Given the description of an element on the screen output the (x, y) to click on. 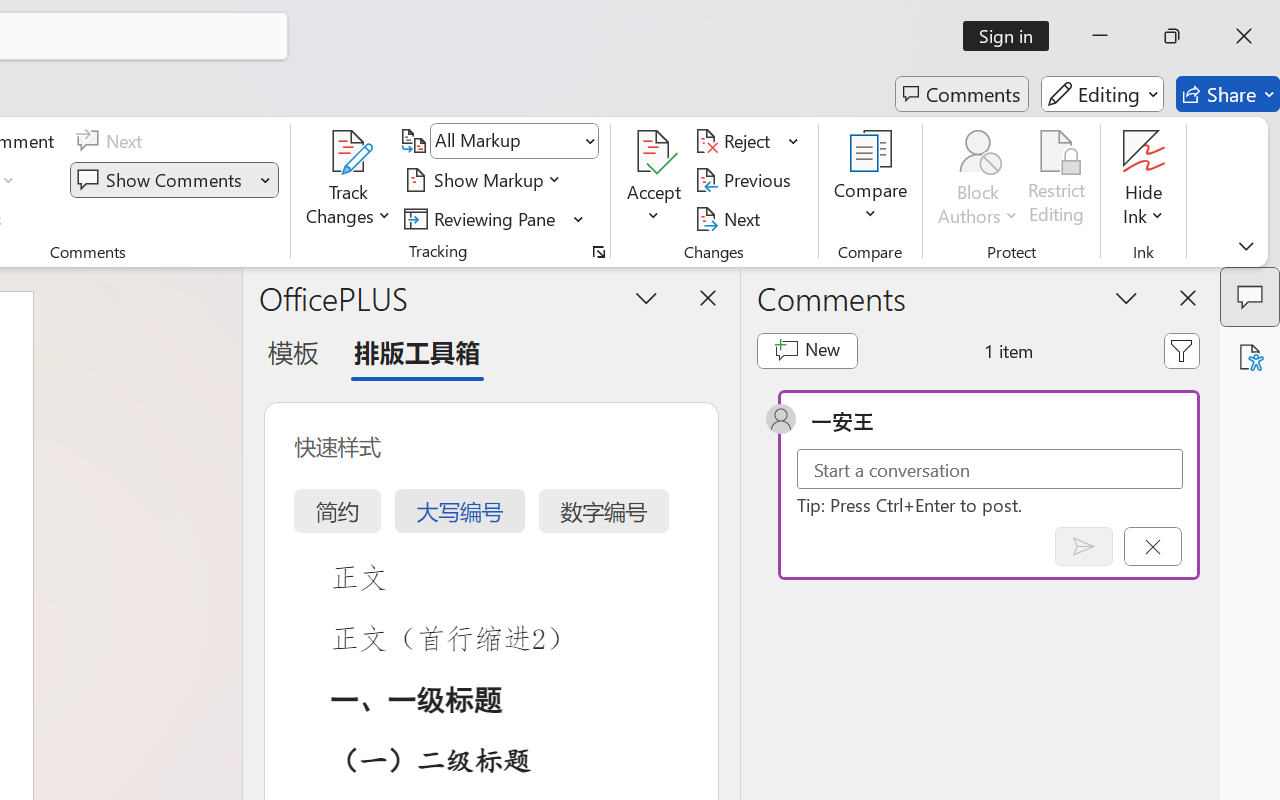
Post comment (Ctrl + Enter) (1083, 546)
Reject and Move to Next (735, 141)
Track Changes (349, 151)
Change Tracking Options... (598, 252)
Sign in (1012, 35)
Block Authors (977, 179)
Editing (1101, 94)
Show Markup (485, 179)
Next (730, 218)
Reviewing Pane (494, 218)
Cancel (1152, 546)
Show Comments (174, 179)
